Given the description of an element on the screen output the (x, y) to click on. 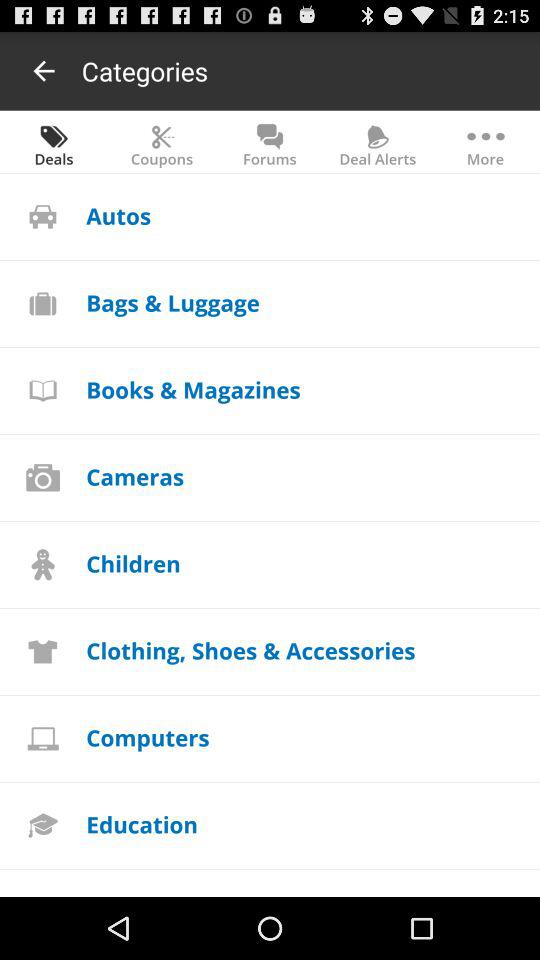
select app above education item (147, 737)
